Given the description of an element on the screen output the (x, y) to click on. 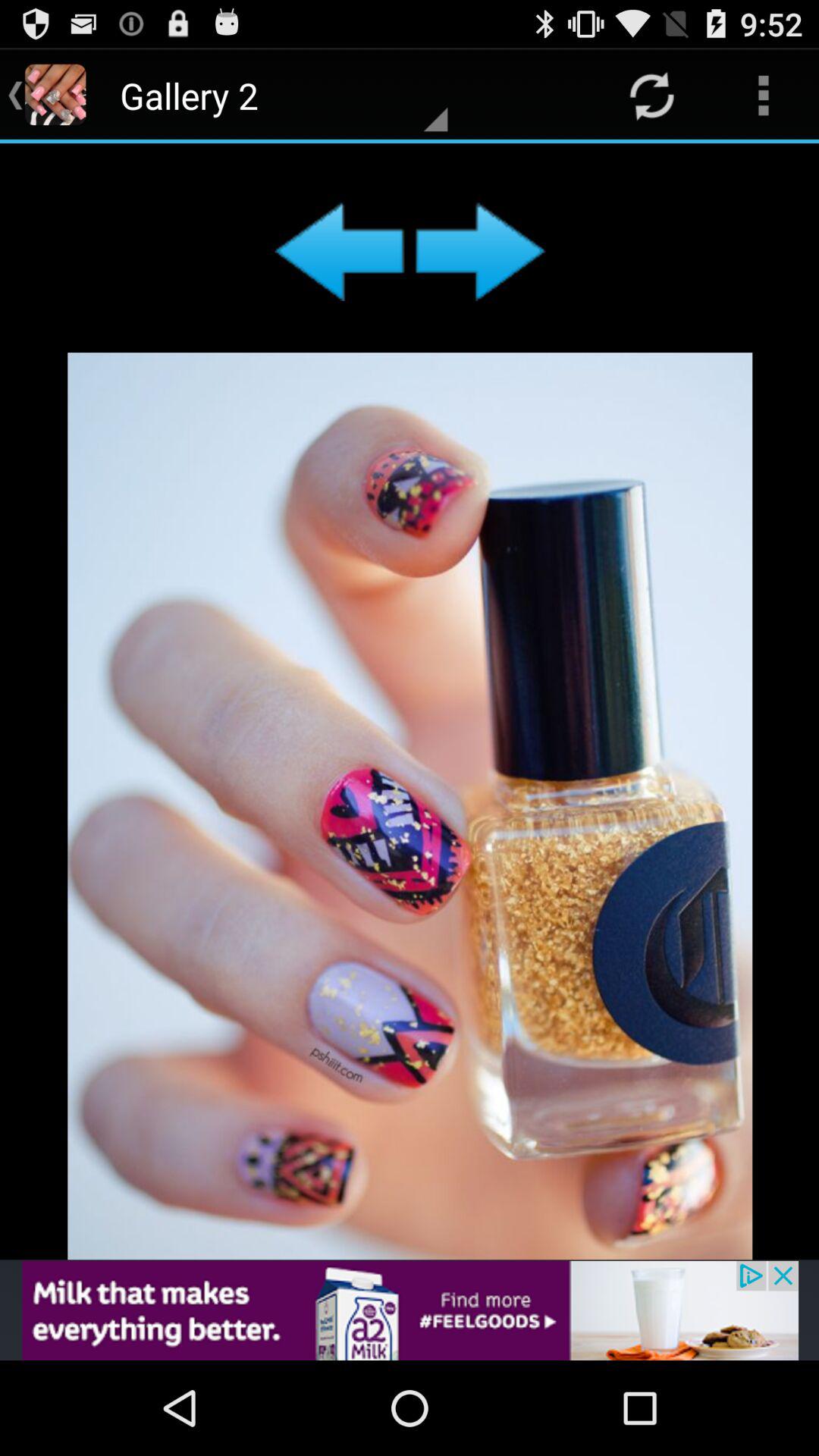
screen advertisement (409, 701)
